Given the description of an element on the screen output the (x, y) to click on. 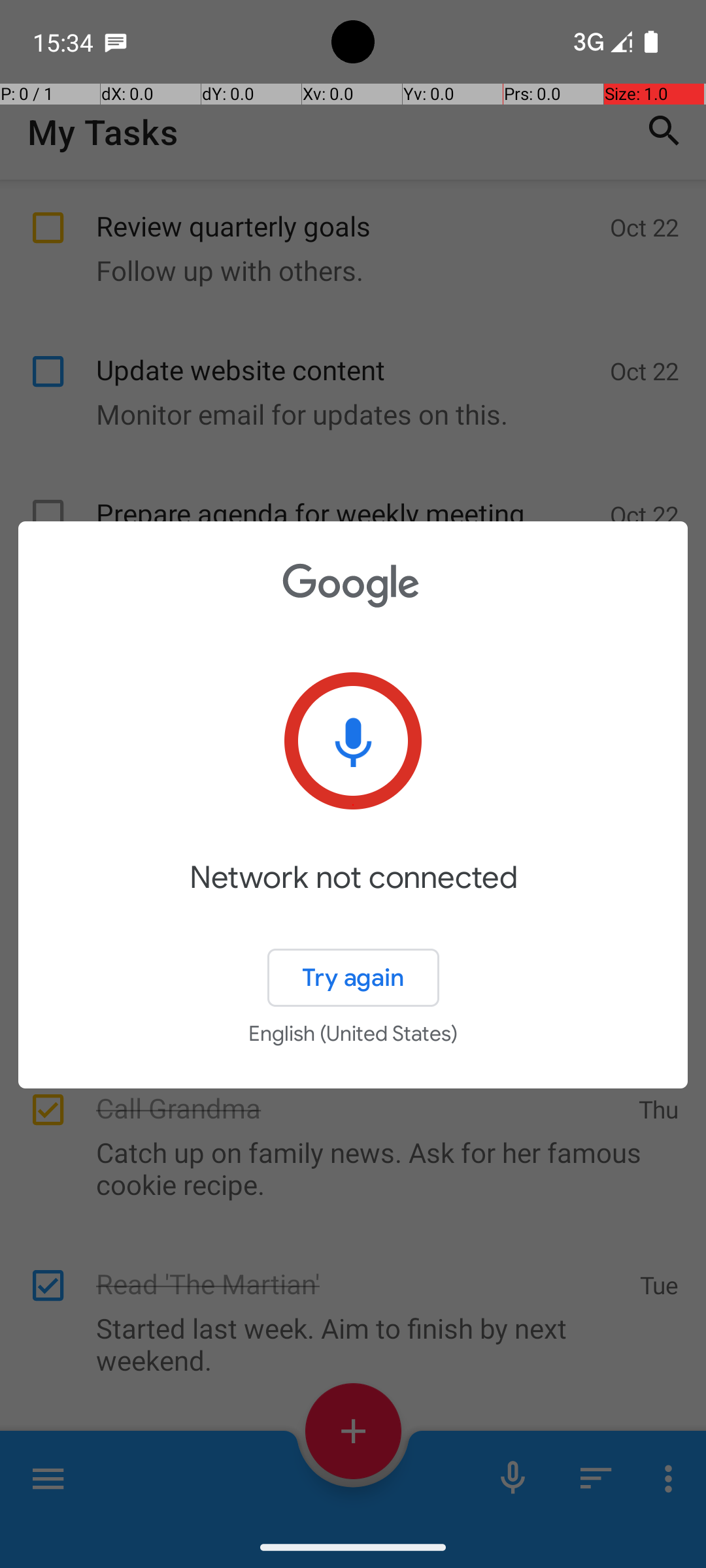
Network not connected Element type: android.widget.TextView (352, 895)
Try again Element type: android.widget.Button (353, 977)
